Given the description of an element on the screen output the (x, y) to click on. 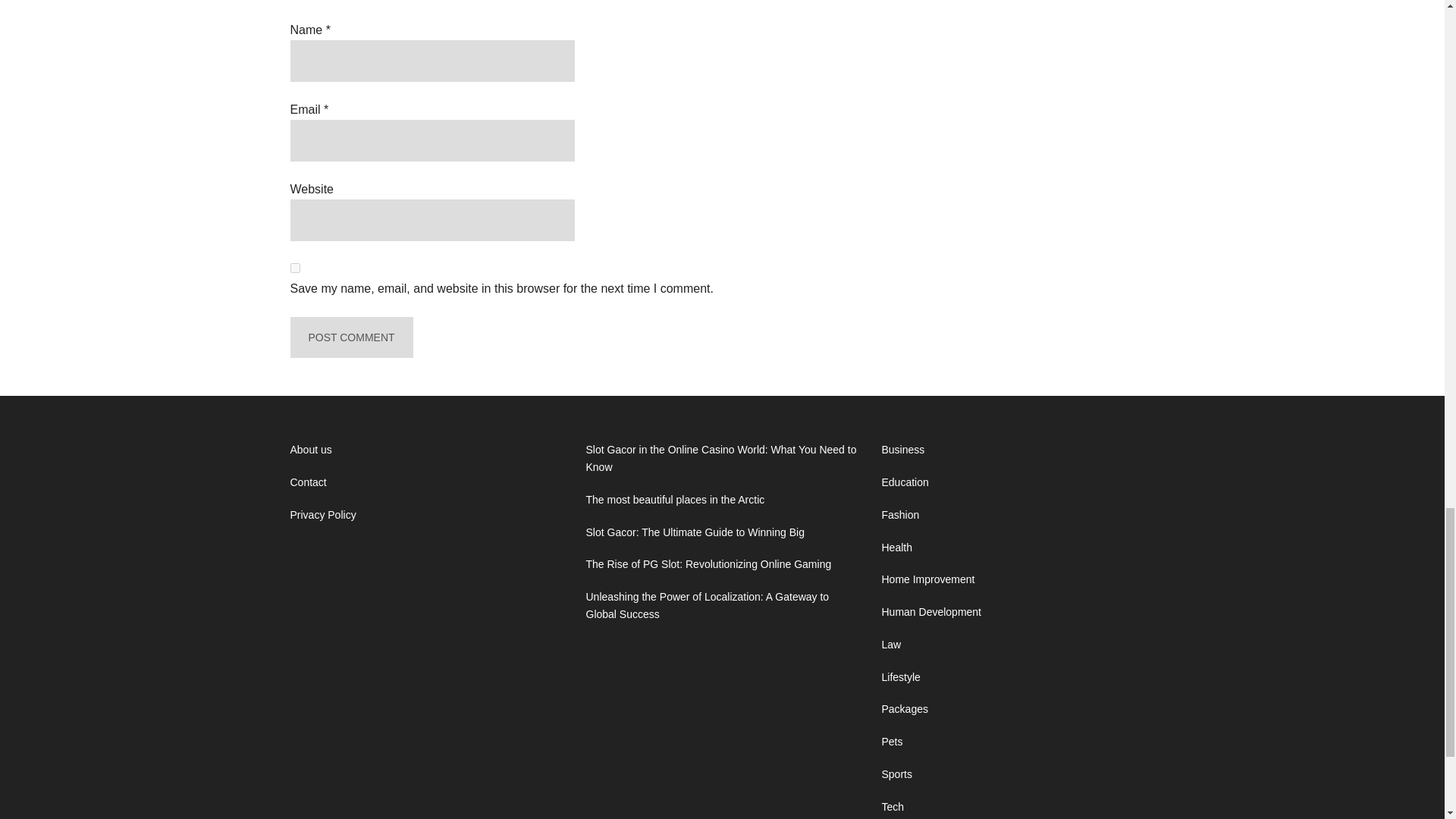
Slot Gacor in the Online Casino World: What You Need to Know (720, 458)
Education (904, 481)
The Rise of PG Slot: Revolutionizing Online Gaming (708, 563)
Health (895, 547)
About us (310, 449)
Contact (307, 481)
Privacy Policy (322, 514)
The most beautiful places in the Arctic (674, 499)
Fashion (899, 514)
